Given the description of an element on the screen output the (x, y) to click on. 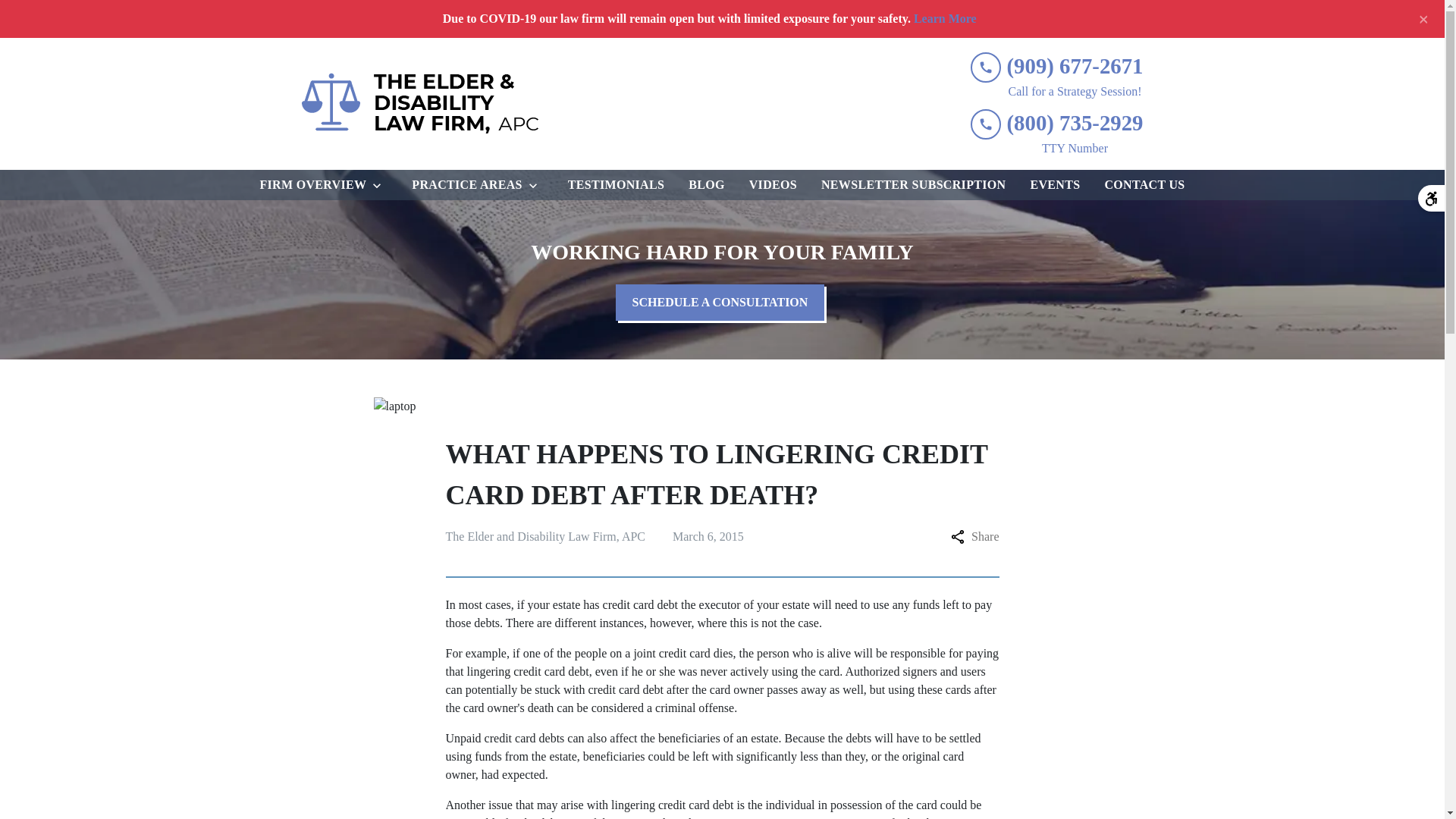
PRACTICE AREAS (463, 184)
Learn More (945, 18)
FIRM OVERVIEW (309, 184)
